Given the description of an element on the screen output the (x, y) to click on. 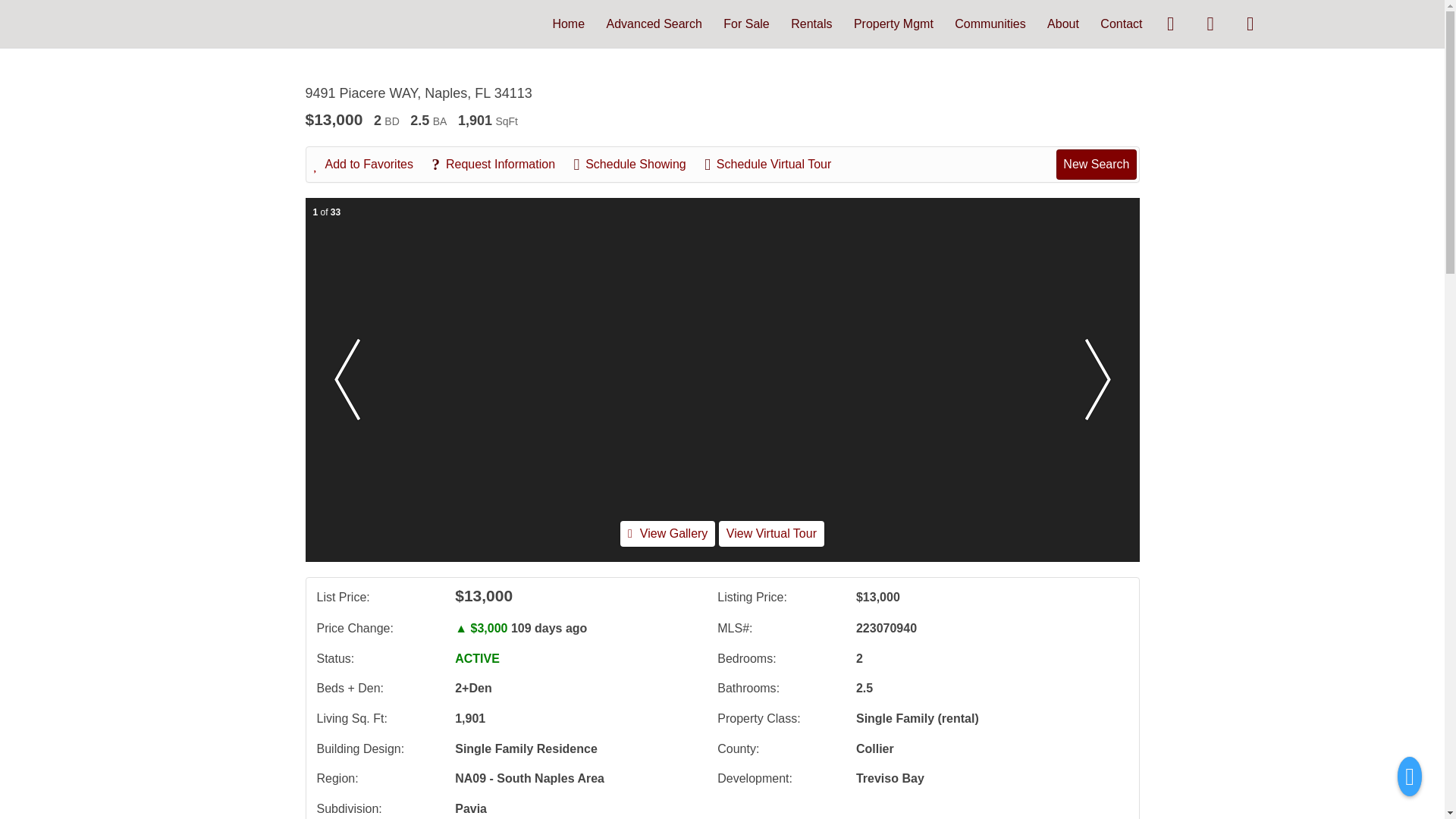
Schedule Virtual Tour (774, 164)
Advanced Search (654, 23)
Schedule Showing (636, 164)
Add to Favorites (371, 164)
Property Mgmt (893, 23)
View Gallery (667, 533)
New Search (1096, 164)
For Sale (745, 23)
View Gallery (667, 533)
Request Information (500, 164)
